Given the description of an element on the screen output the (x, y) to click on. 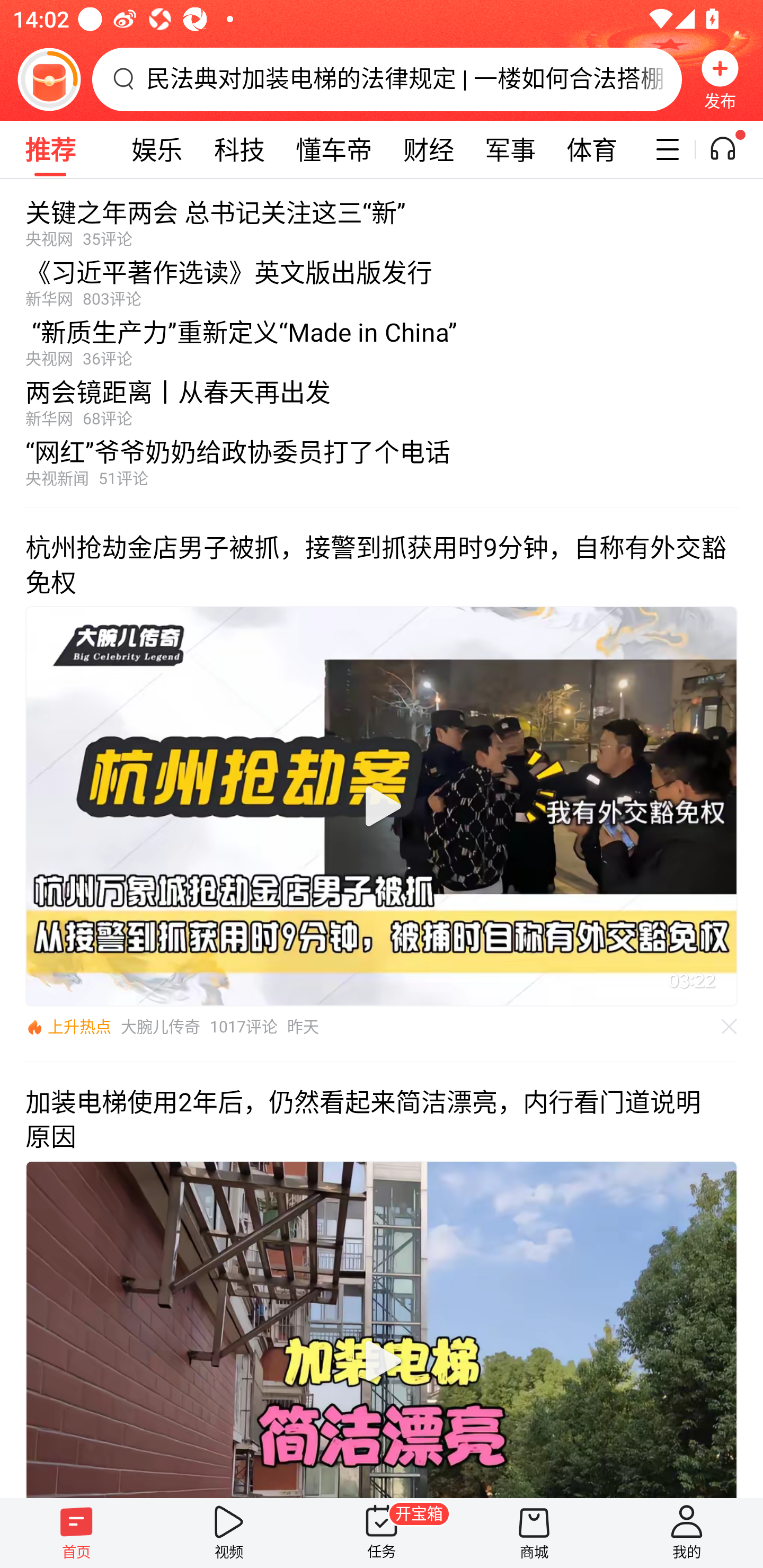
阅读赚金币 (48, 79)
发布 发布，按钮 (720, 78)
推荐 (49, 149)
娱乐 (156, 149)
科技 (239, 149)
懂车帝 (333, 149)
财经 (428, 149)
军事 (510, 149)
体育 (591, 149)
听一听开关 (732, 149)
两会镜距离丨从春天再出发新华网68评论 文章 两会镜距离丨从春天再出发 新华网68评论 (381, 398)
播放视频 视频播放器，双击屏幕打开播放控制 (381, 805)
播放视频 (381, 806)
不感兴趣 (729, 1026)
播放视频 视频播放器，双击屏幕打开播放控制 (381, 1328)
播放视频 (381, 1360)
首页 (76, 1532)
视频 (228, 1532)
任务 开宝箱 (381, 1532)
商城 (533, 1532)
我的 (686, 1532)
